Given the description of an element on the screen output the (x, y) to click on. 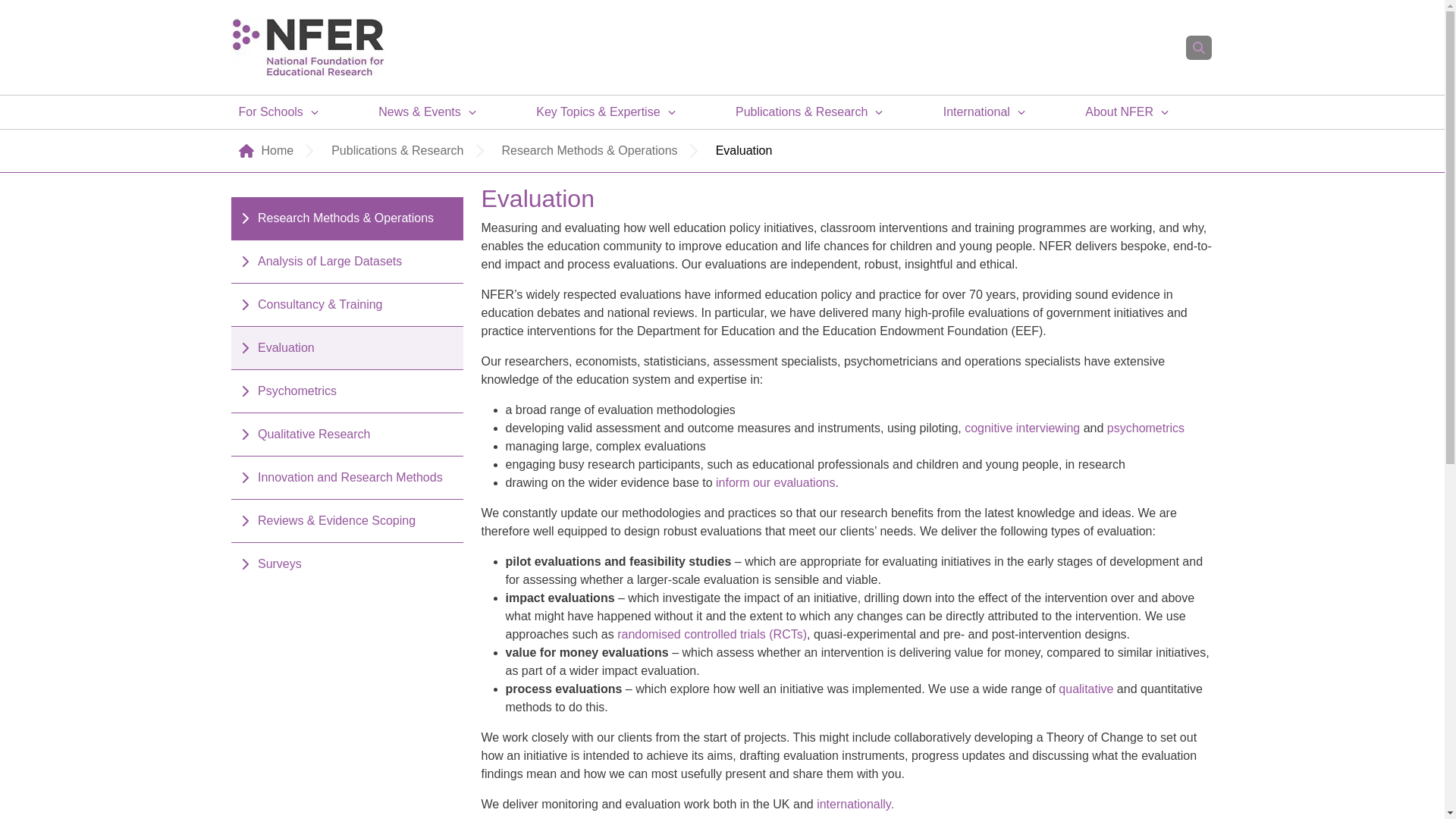
Qualitative Research (1085, 688)
Psychometrics (1145, 427)
For Schools (270, 112)
Qualitative Research (1021, 427)
Search (1198, 46)
NFER Education Trials Unit (711, 634)
International (854, 803)
